Given the description of an element on the screen output the (x, y) to click on. 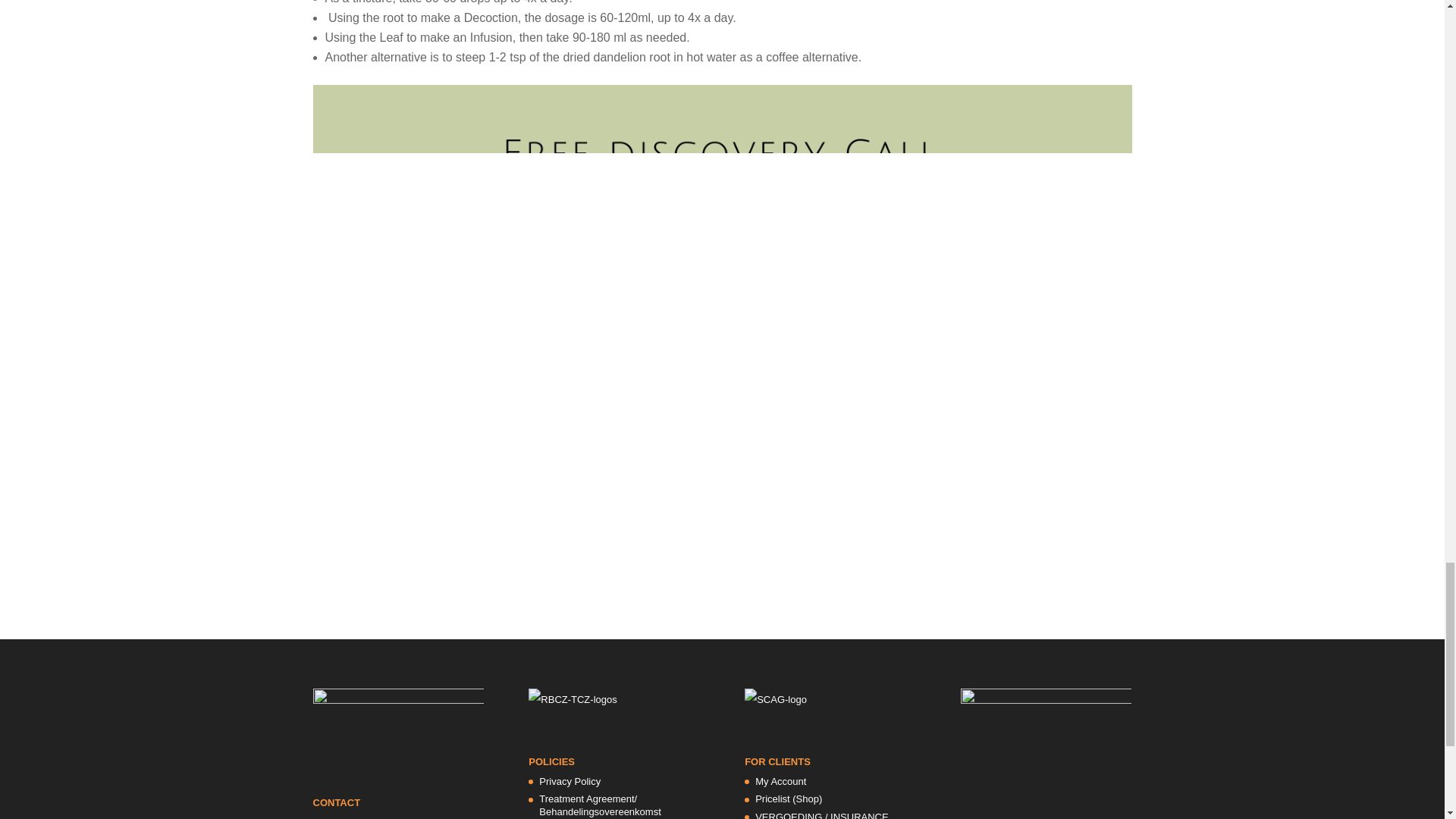
Privacy Policy (568, 781)
My Account (780, 781)
